Given the description of an element on the screen output the (x, y) to click on. 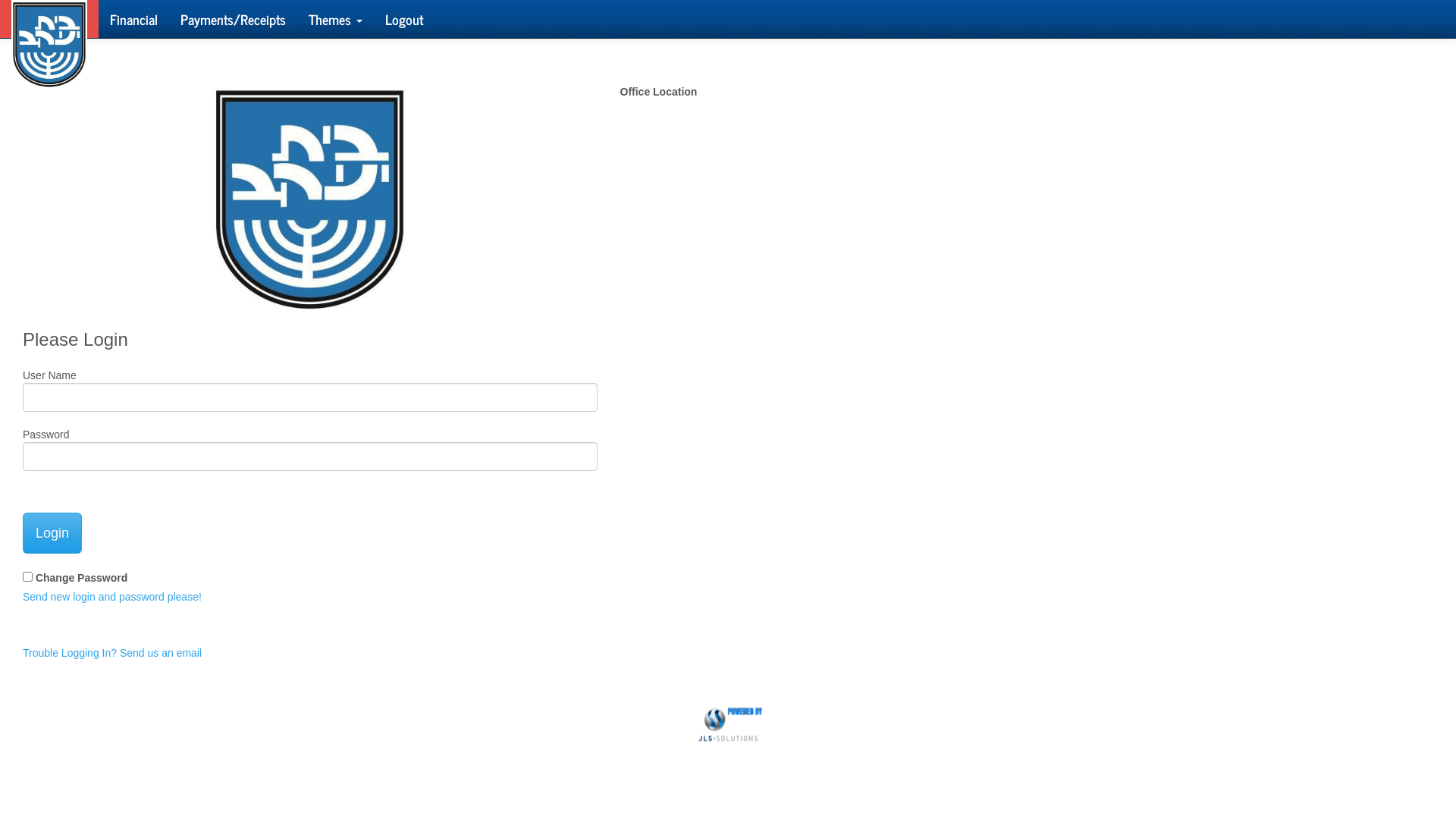
Trouble Logging In? Send us an email Element type: text (111, 652)
Payments/Receipts Element type: text (233, 18)
Themes Element type: text (335, 18)
Financial Element type: text (133, 18)
Send new login and password please! Element type: text (111, 596)
Login Element type: text (51, 532)
Logout Element type: text (403, 18)
